Given the description of an element on the screen output the (x, y) to click on. 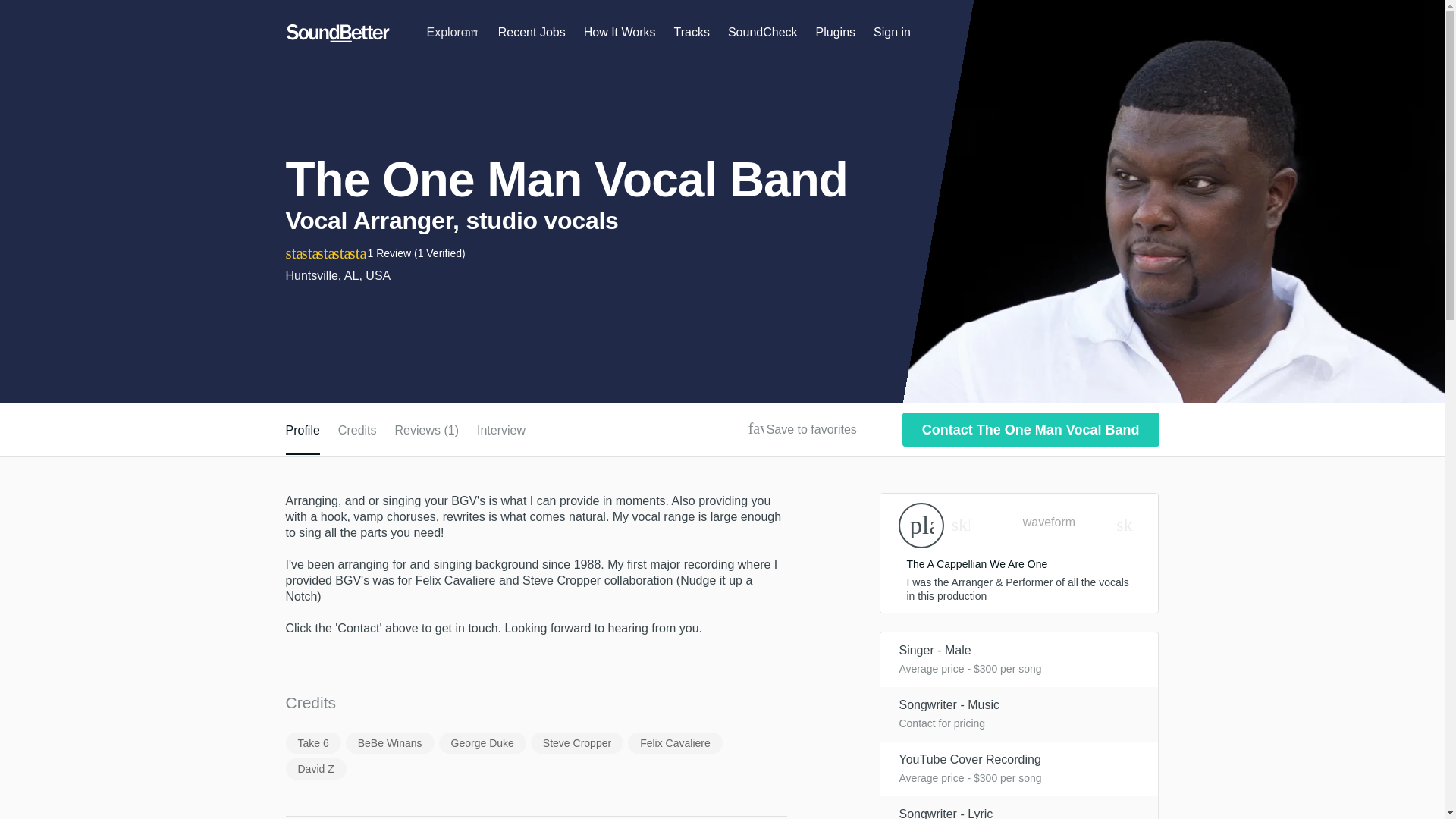
SoundBetter (337, 33)
